Given the description of an element on the screen output the (x, y) to click on. 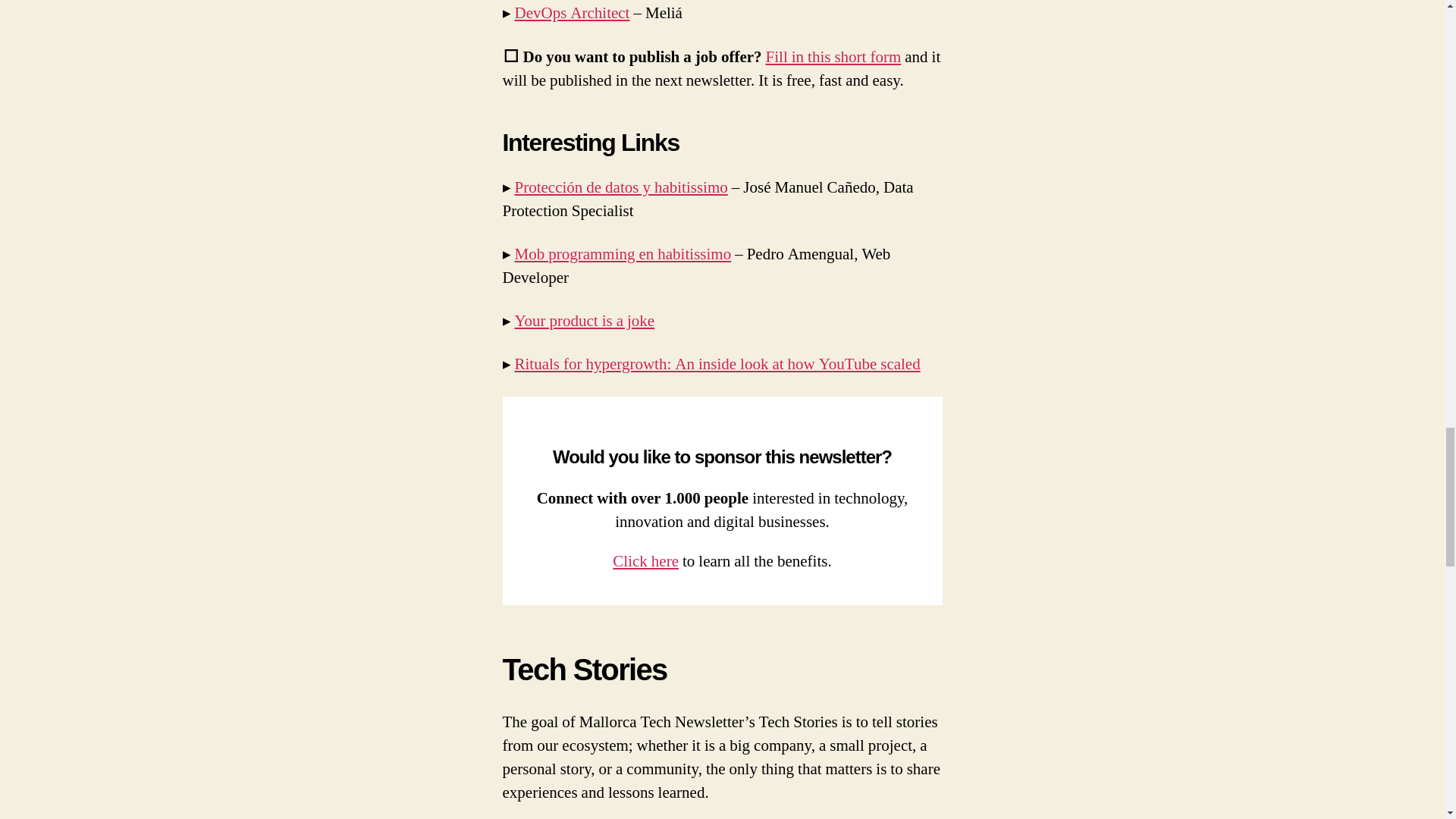
DevOps Architect (570, 13)
Fill in this short form (833, 56)
Click here (645, 561)
Mob programming en habitissimo (621, 254)
Your product is a joke (583, 321)
